Given the description of an element on the screen output the (x, y) to click on. 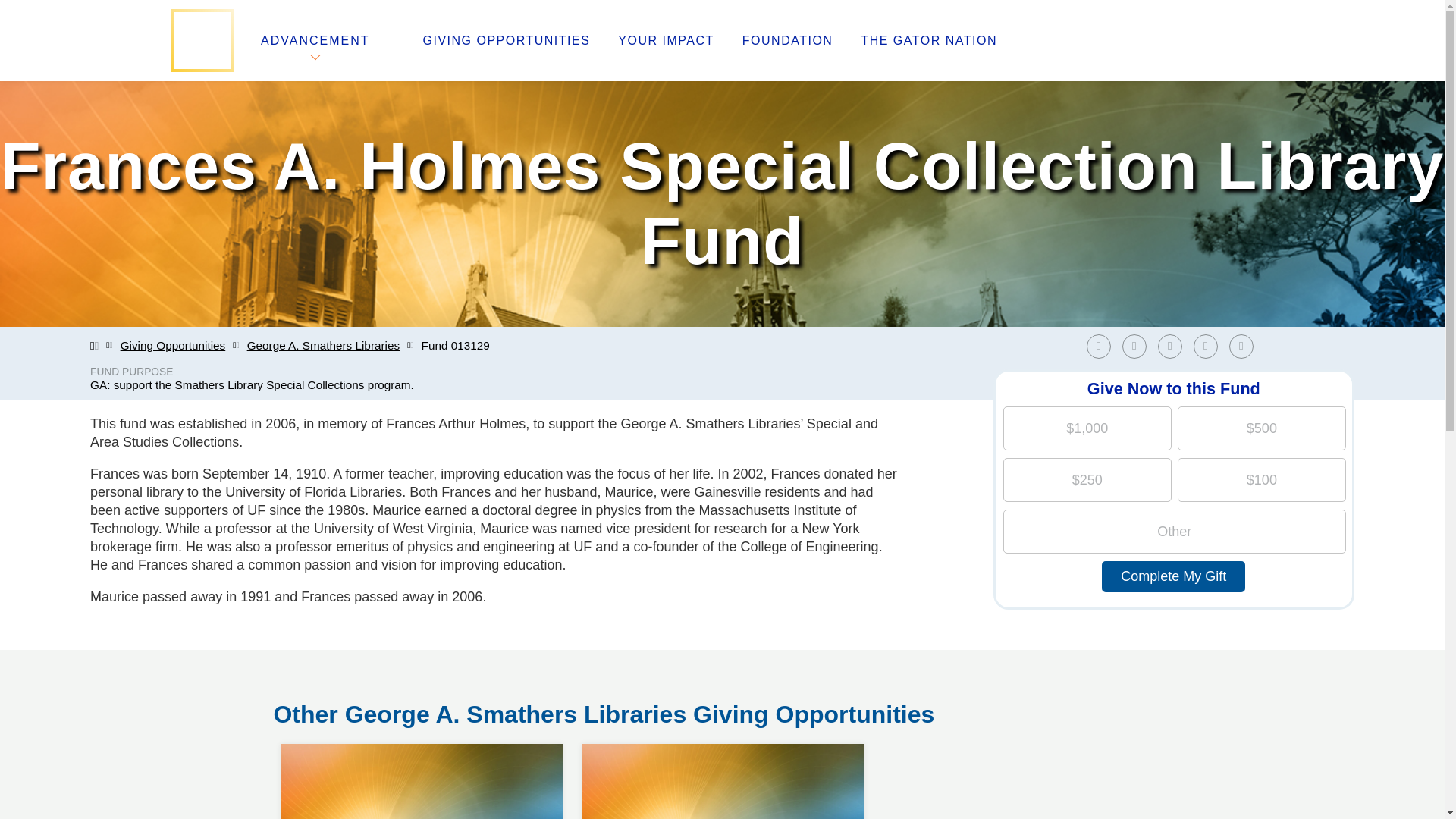
GIVING OPPORTUNITIES (507, 40)
Complete My Gift (1173, 576)
George A. Smathers Libraries (323, 345)
Foundation Board (327, 704)
Privacy Policy (545, 704)
Advancement Toolkit (565, 686)
Share on Facebook (1098, 346)
THE GATOR NATION (928, 40)
Share on Reddit (1209, 345)
Share on Reddit (1205, 346)
Contact Us (306, 723)
University of Florida (840, 668)
Share on LinkedIn (1169, 346)
FOUNDATION (787, 40)
